Given the description of an element on the screen output the (x, y) to click on. 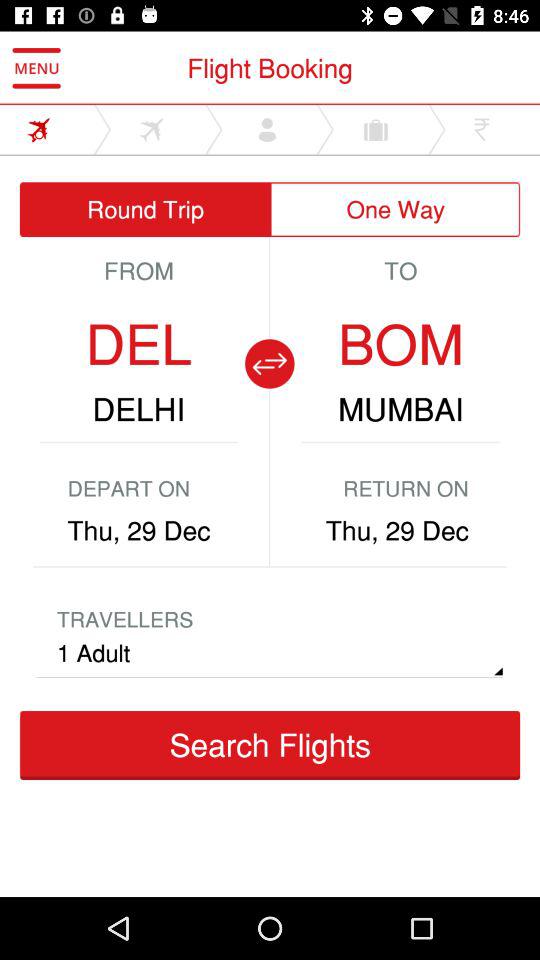
turn on the bom icon (400, 344)
